Given the description of an element on the screen output the (x, y) to click on. 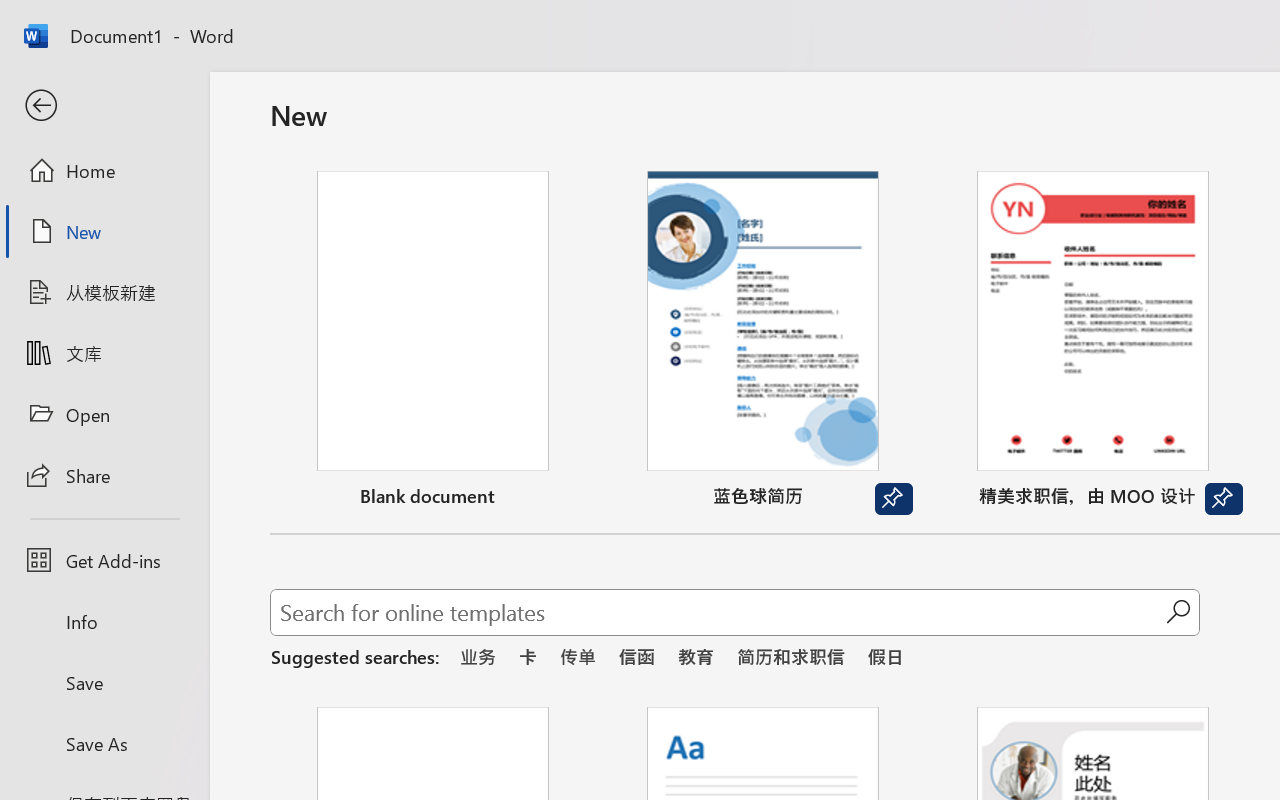
Search for online templates (718, 615)
Get Add-ins (104, 560)
Save As (104, 743)
Info (104, 621)
Back (104, 106)
